Given the description of an element on the screen output the (x, y) to click on. 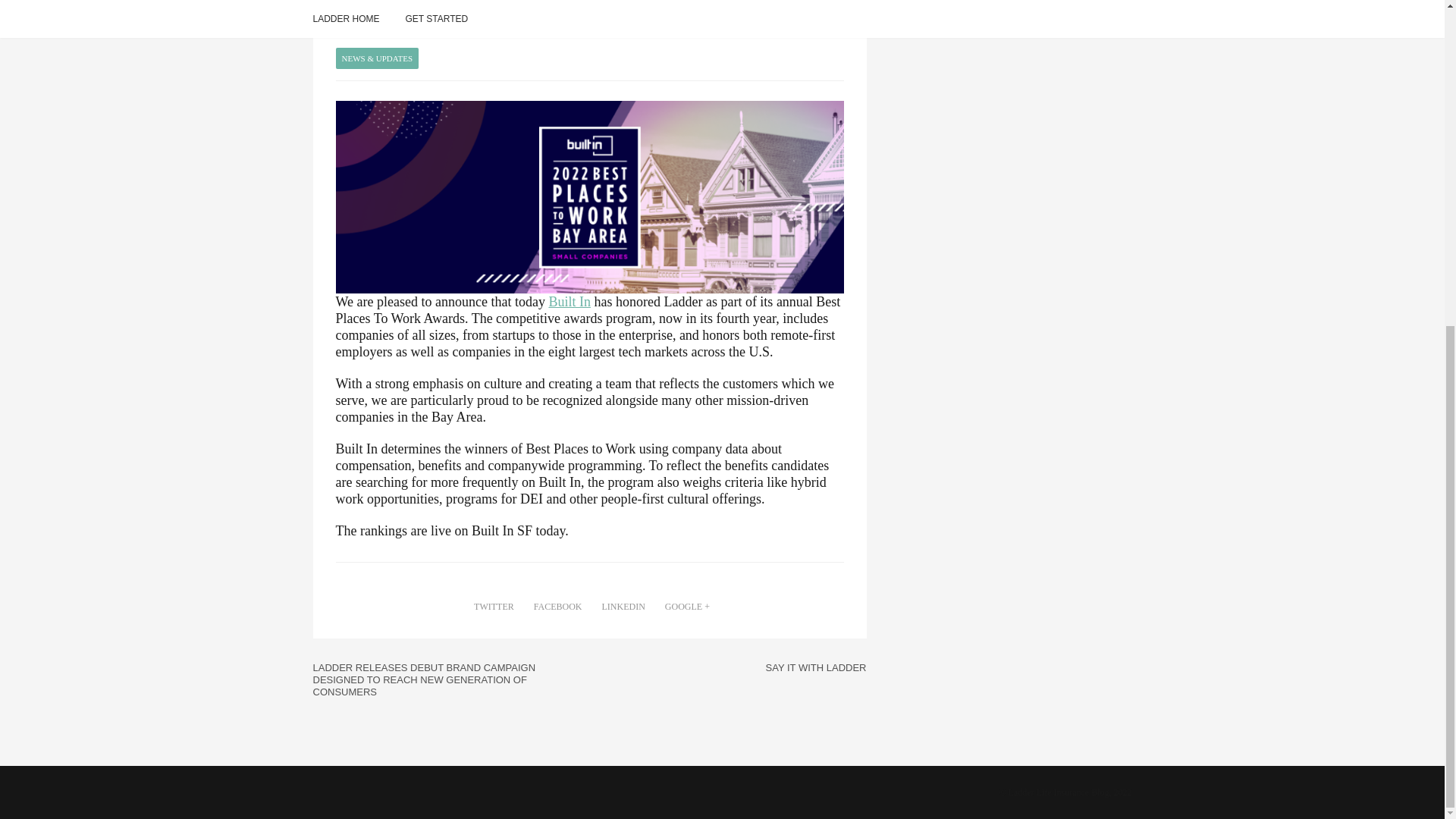
FACEBOOK (555, 606)
TWITTER (491, 606)
LINKEDIN (620, 606)
SAY IT WITH LADDER (815, 667)
Built In (569, 301)
